Given the description of an element on the screen output the (x, y) to click on. 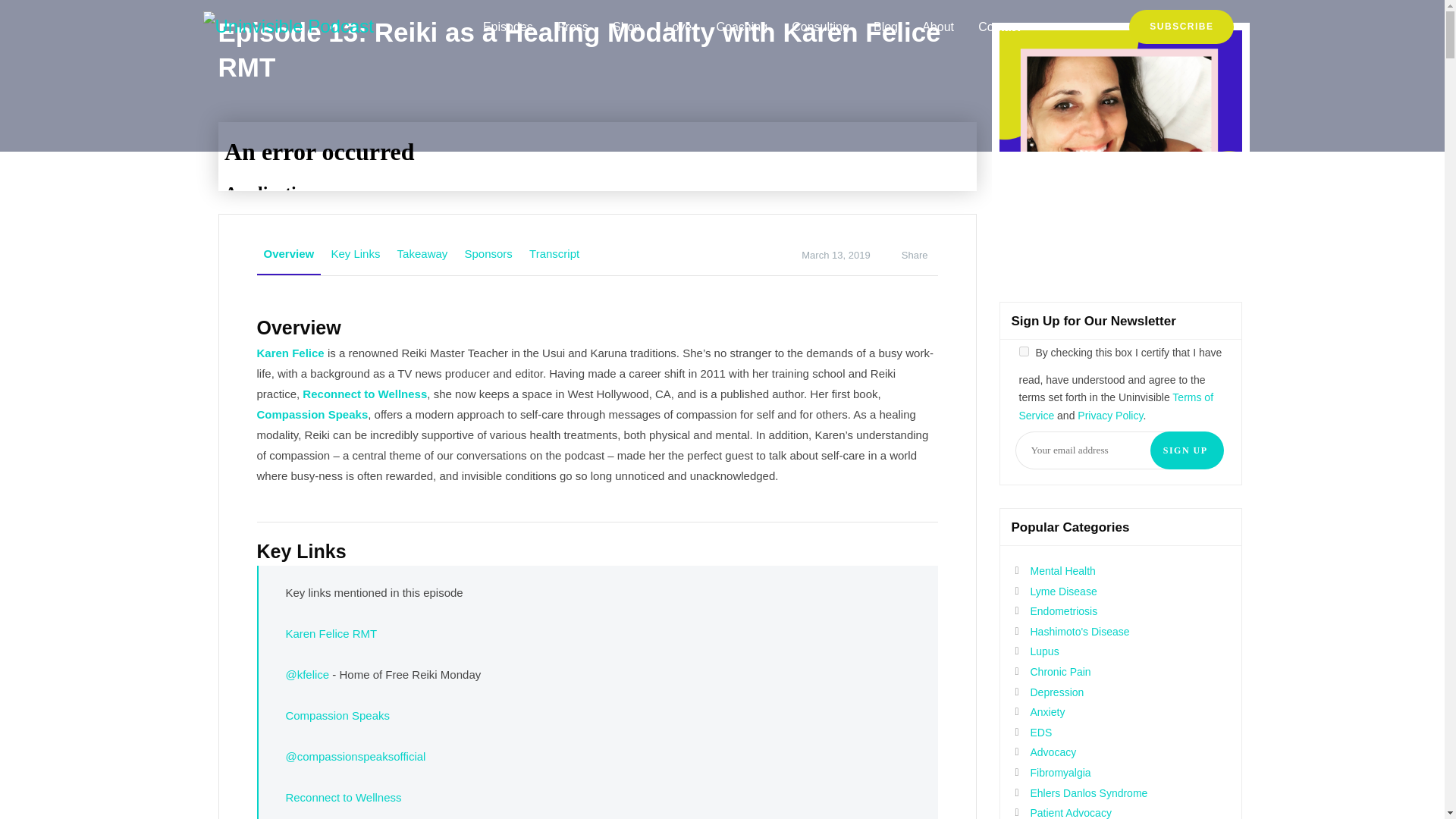
Sponsors (487, 253)
Episodes (507, 26)
Reconnect to Wellness (343, 797)
Coaching (741, 26)
Consulting (820, 26)
Key Links (355, 253)
Overview (288, 254)
Reconnect to Wellness (364, 392)
Contact (999, 26)
Takeaway (422, 253)
SUBSCRIBE (1181, 26)
1 (1024, 351)
Karen Felice (289, 351)
Transcript (554, 253)
Compassion Speaks (337, 715)
